Given the description of an element on the screen output the (x, y) to click on. 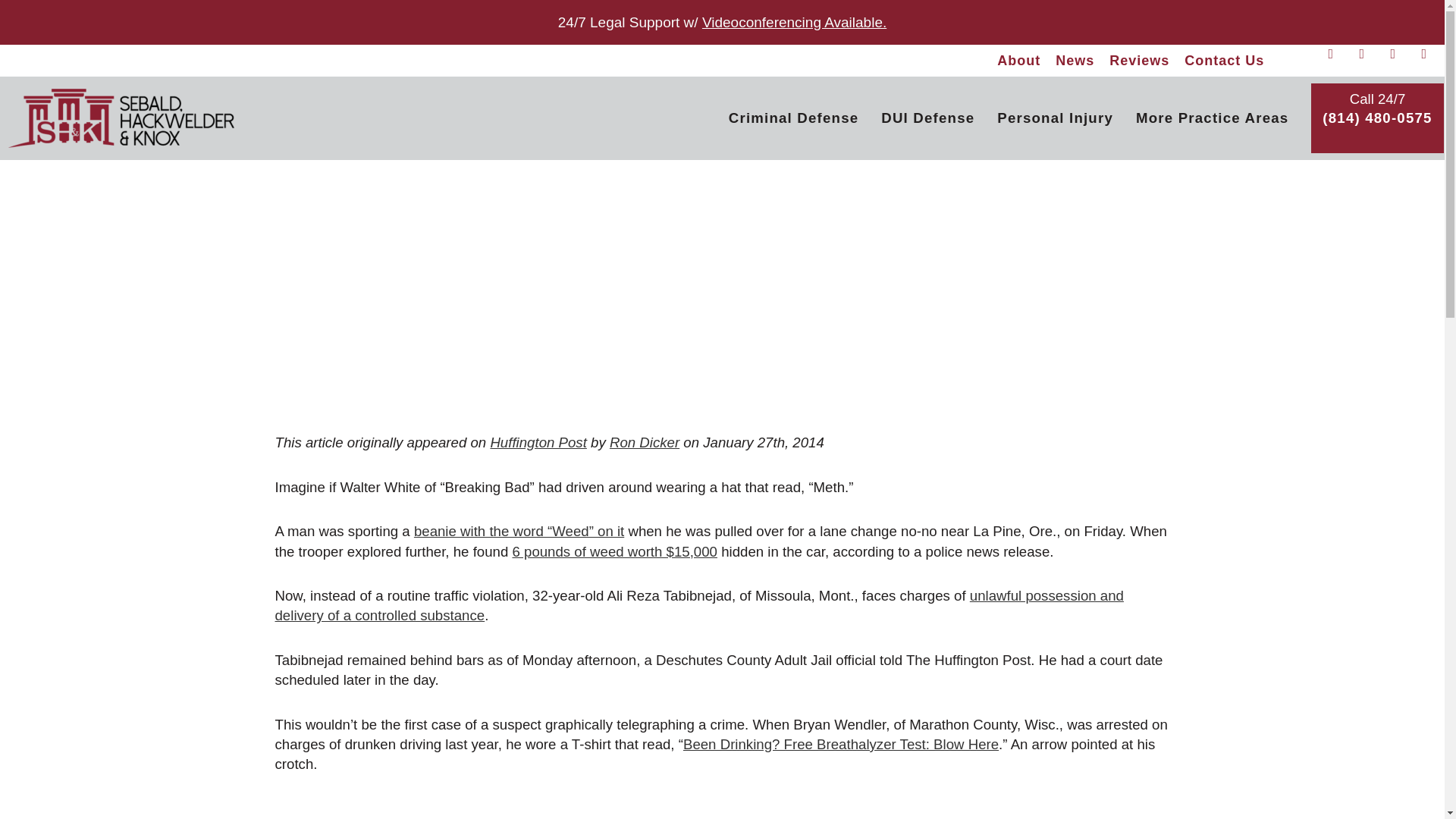
Contact Us (1223, 60)
About (1019, 60)
Criminal Defense (793, 118)
Twitter (1368, 60)
News (1075, 60)
Map-marker-alt (1399, 60)
Videoconferencing Available. (793, 22)
Facebook-f (1337, 60)
Reviews (1139, 60)
